Given the description of an element on the screen output the (x, y) to click on. 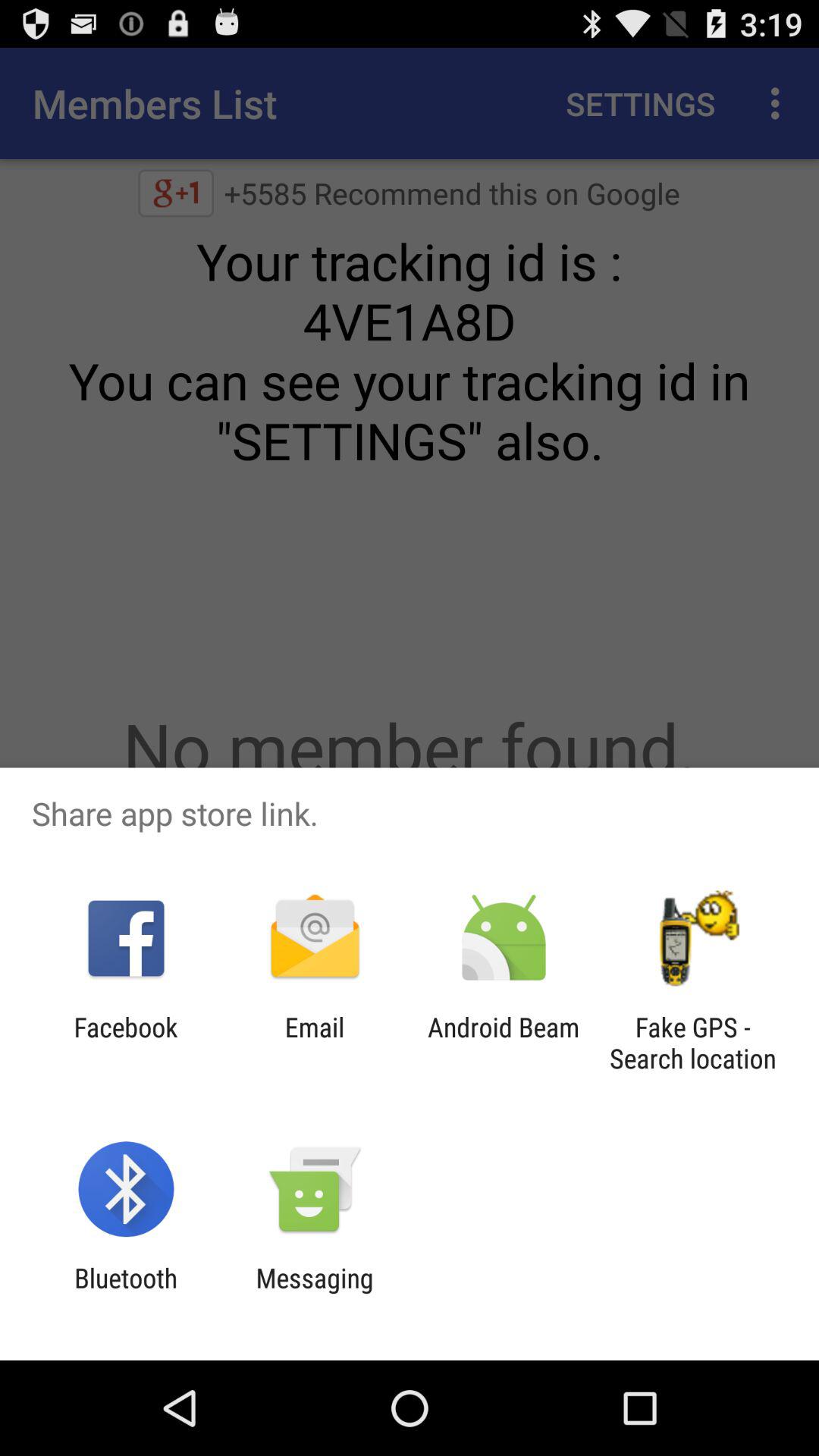
press icon next to bluetooth app (314, 1293)
